Given the description of an element on the screen output the (x, y) to click on. 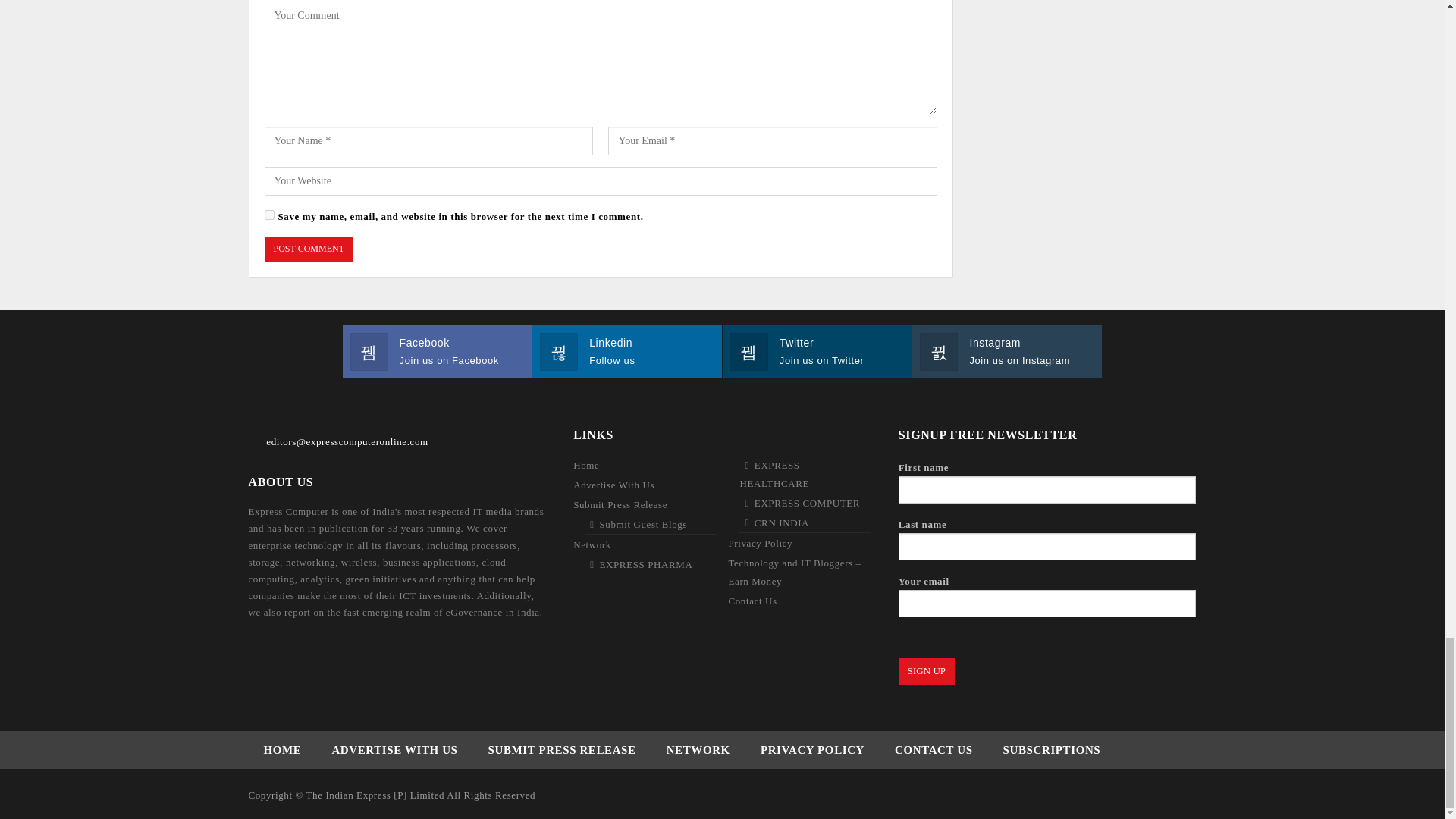
Post Comment (307, 248)
Sign Up (926, 670)
yes (268, 214)
